Given the description of an element on the screen output the (x, y) to click on. 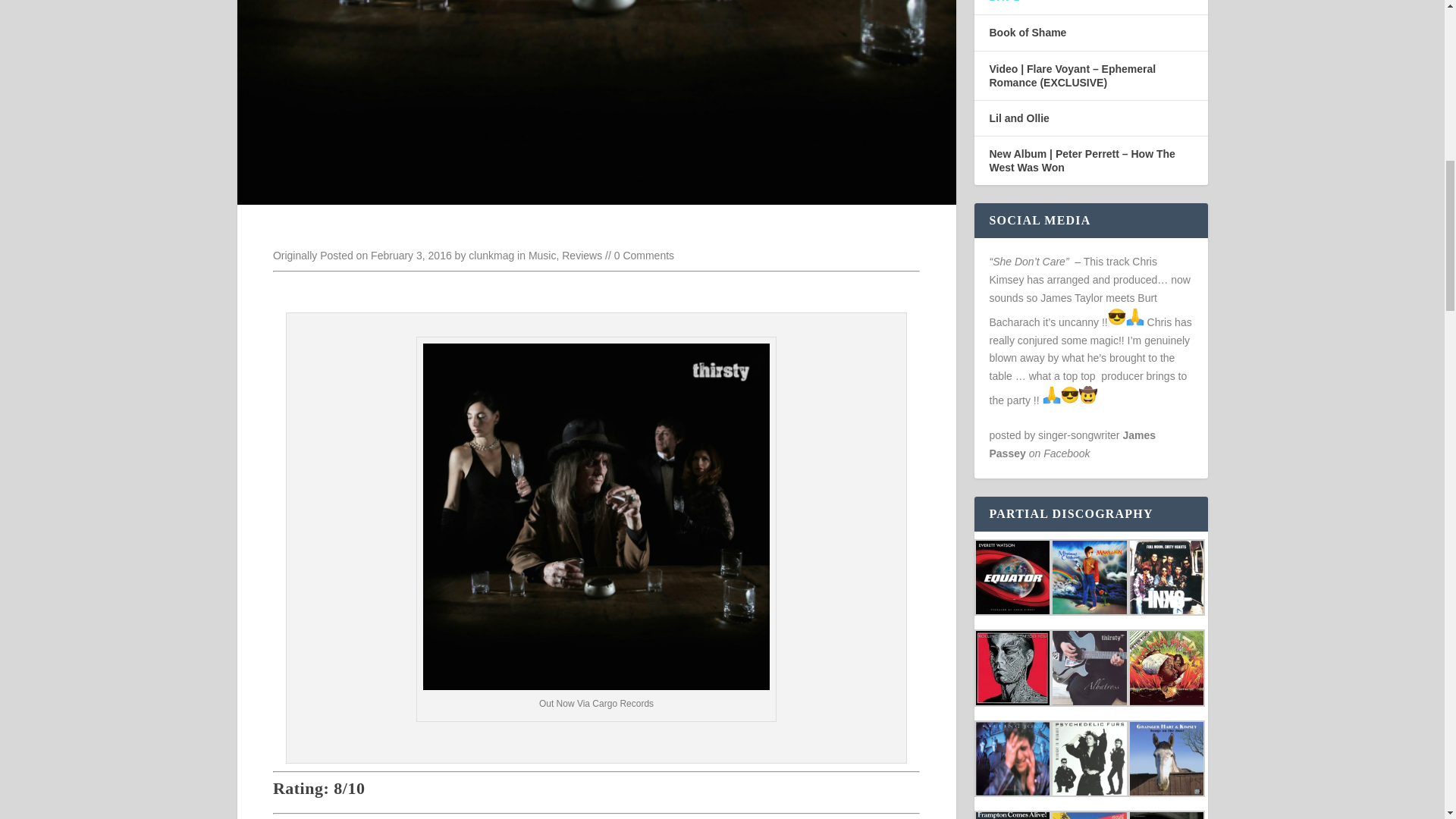
Music (542, 255)
clunkmag (490, 255)
Reviews (582, 255)
